Given the description of an element on the screen output the (x, y) to click on. 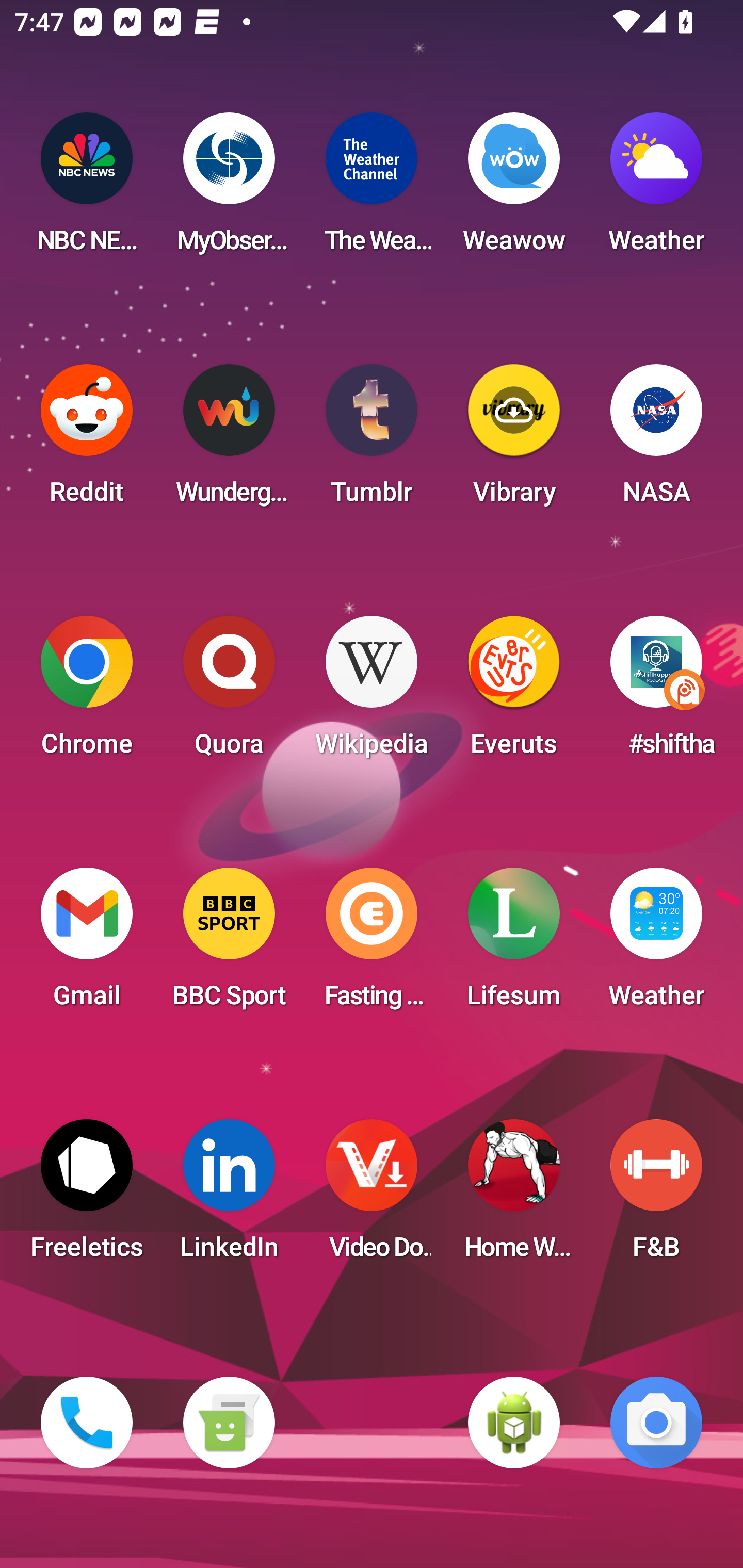
NBC NEWS (86, 188)
MyObservatory (228, 188)
The Weather Channel (371, 188)
Weawow (513, 188)
Weather (656, 188)
Reddit (86, 440)
Wunderground (228, 440)
Tumblr (371, 440)
Vibrary (513, 440)
NASA (656, 440)
Chrome (86, 692)
Quora (228, 692)
Wikipedia (371, 692)
Everuts (513, 692)
#shifthappens in the Digital Workplace Podcast (656, 692)
Gmail (86, 943)
BBC Sport (228, 943)
Fasting Coach (371, 943)
Lifesum (513, 943)
Weather (656, 943)
Freeletics (86, 1195)
LinkedIn (228, 1195)
Video Downloader & Ace Player (371, 1195)
Home Workout (513, 1195)
F&B (656, 1195)
Phone (86, 1422)
Messaging (228, 1422)
WebView Browser Tester (513, 1422)
Camera (656, 1422)
